Given the description of an element on the screen output the (x, y) to click on. 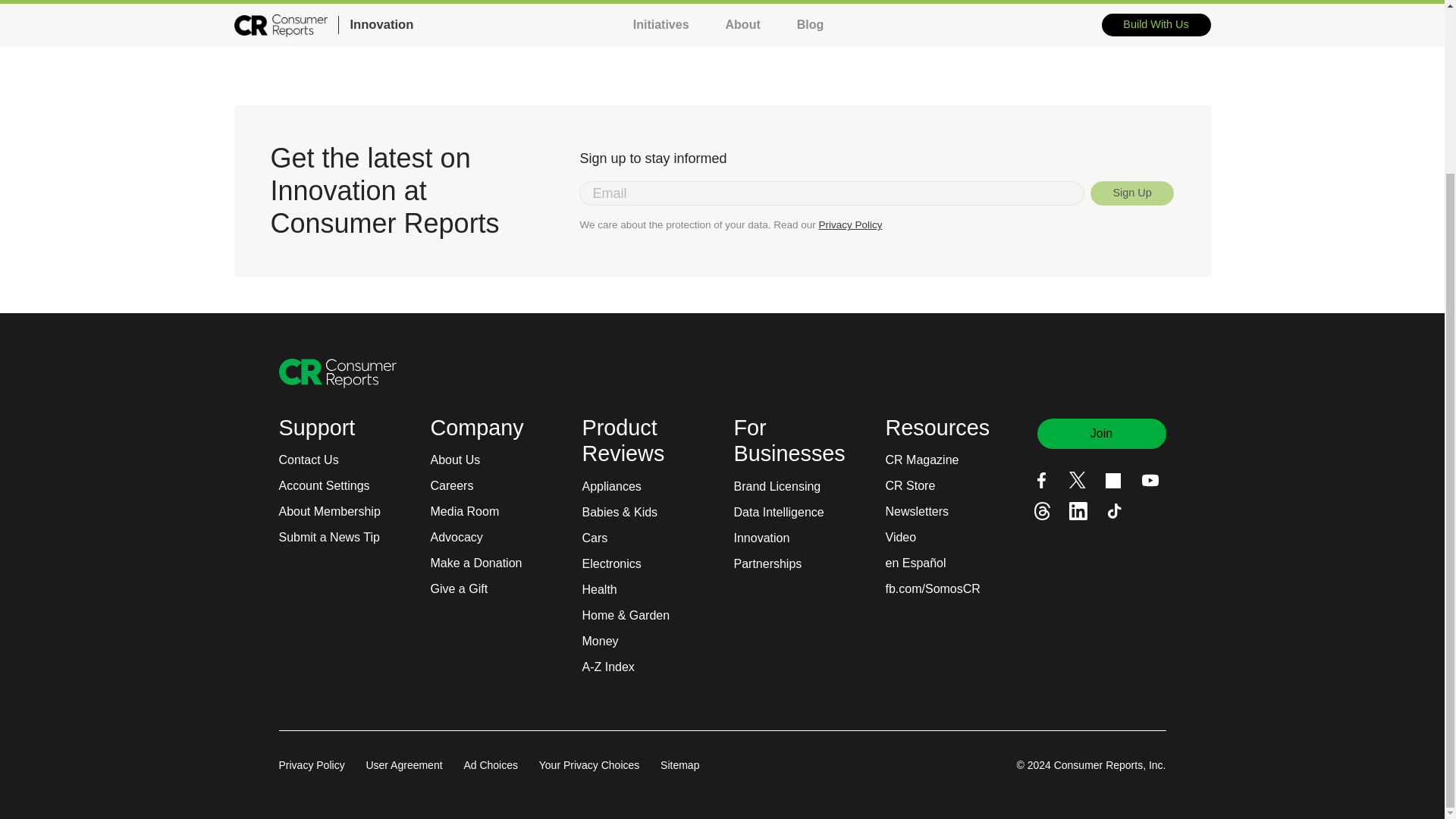
Facebook (1040, 480)
LinkedIn (1077, 511)
A-Z Index (608, 667)
About Membership (329, 511)
Consumer Reports (337, 372)
Money (600, 641)
Submit a News Tip (329, 537)
Health (599, 589)
X (1077, 479)
Brand Licensing (777, 486)
Privacy Policy (850, 224)
Advocacy (456, 537)
Newsletters (917, 511)
Cars (595, 538)
Consumer Reports (337, 373)
